Given the description of an element on the screen output the (x, y) to click on. 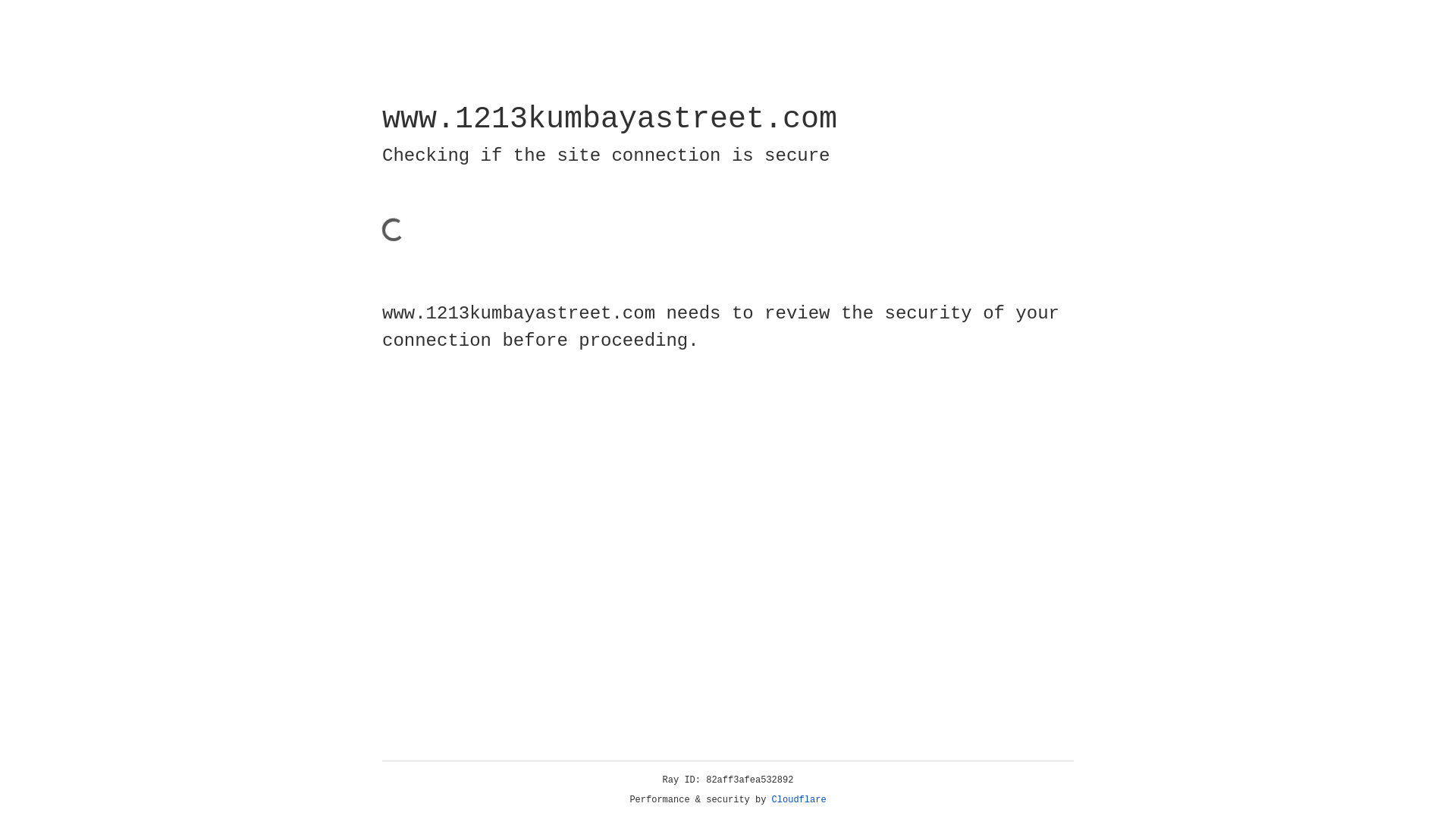
Cloudflare Element type: text (798, 799)
